Given the description of an element on the screen output the (x, y) to click on. 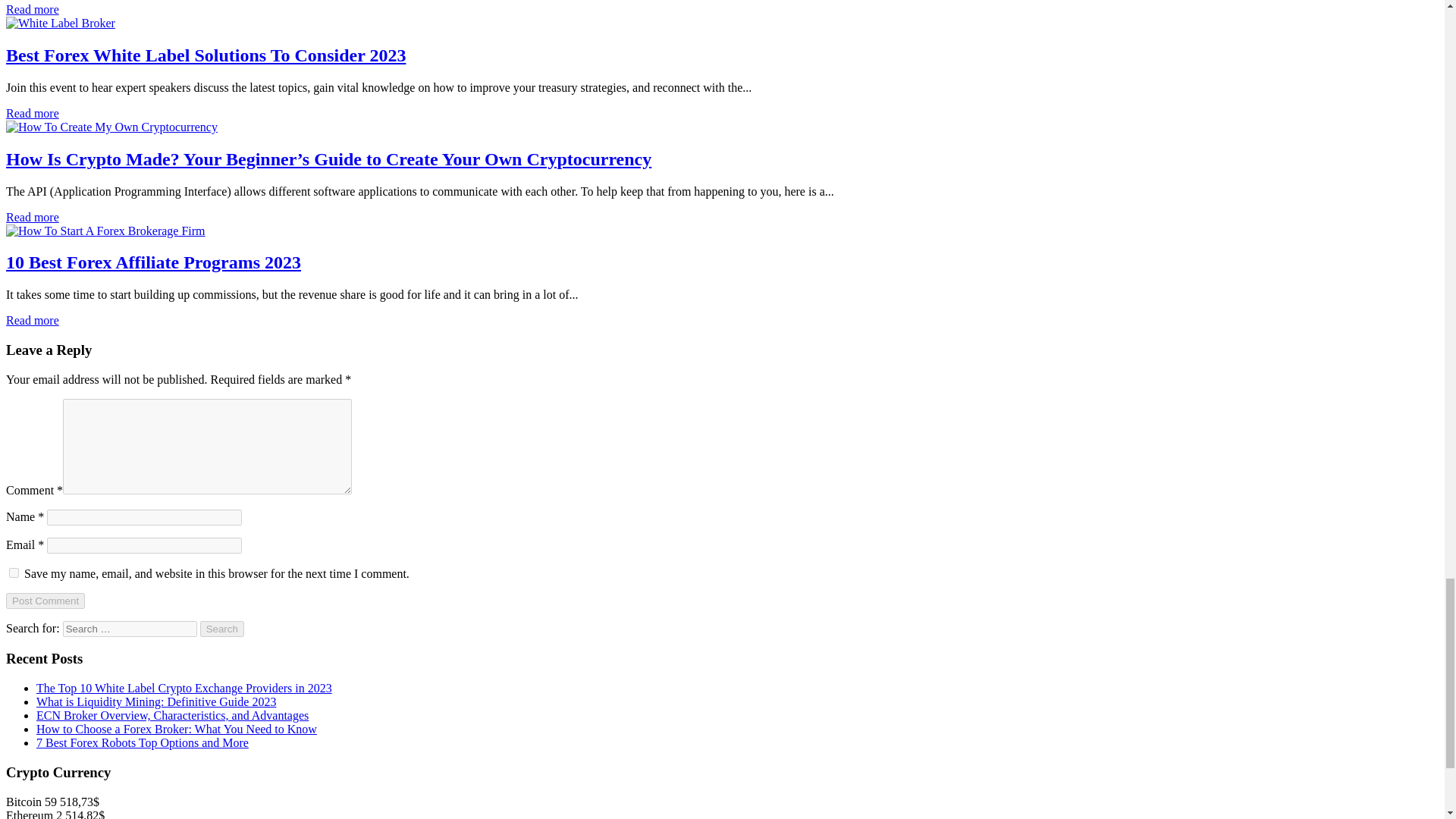
Search (222, 628)
Read more (32, 9)
Post Comment (44, 600)
yes (13, 573)
10 Best Forex Affiliate Programs 2023 (105, 230)
Best Forex White Label Solutions To Consider 2023 (60, 22)
Search (222, 628)
